Given the description of an element on the screen output the (x, y) to click on. 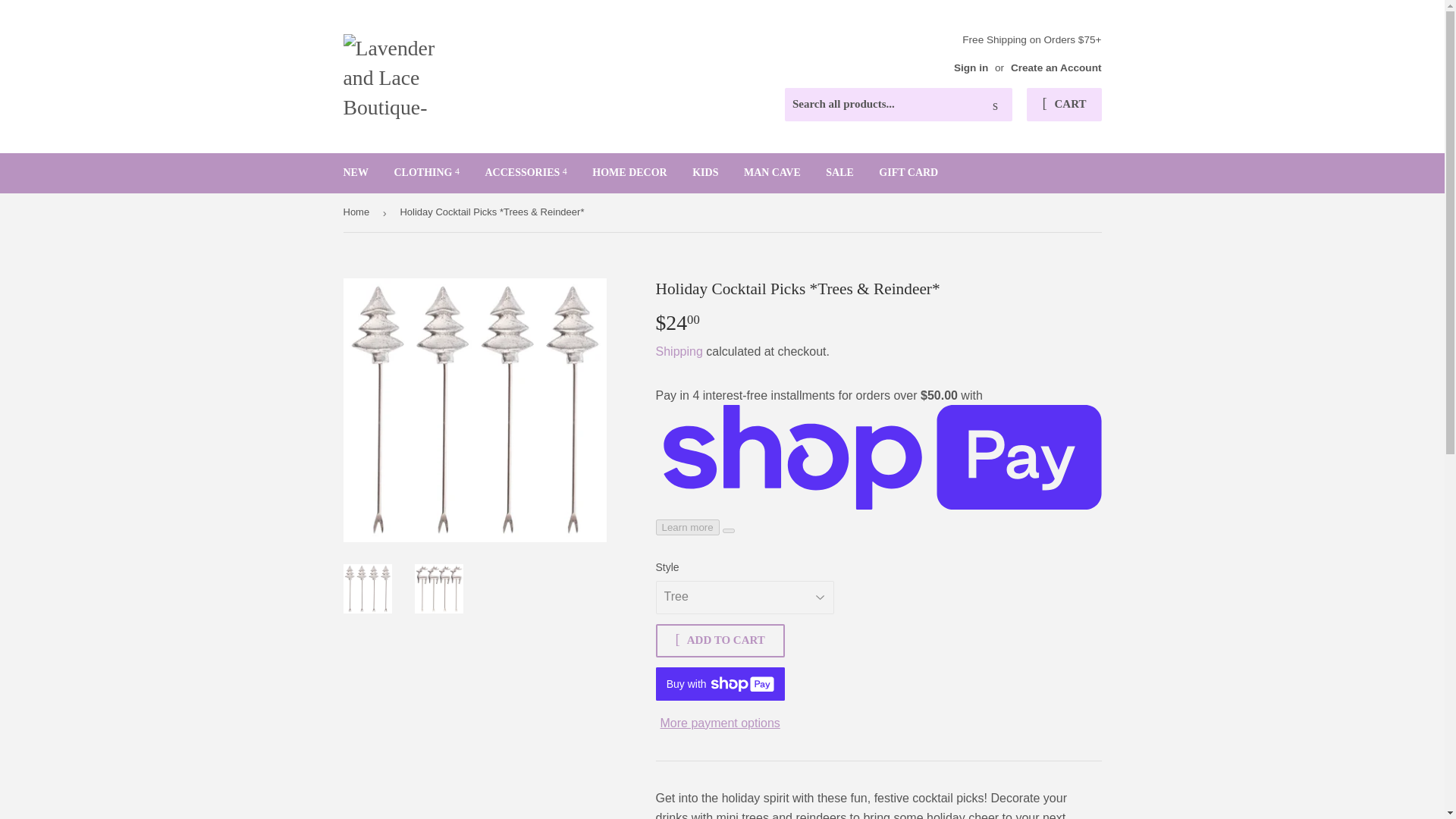
Sign in (970, 67)
Create an Account (1056, 67)
Search (994, 105)
CART (1063, 104)
